Given the description of an element on the screen output the (x, y) to click on. 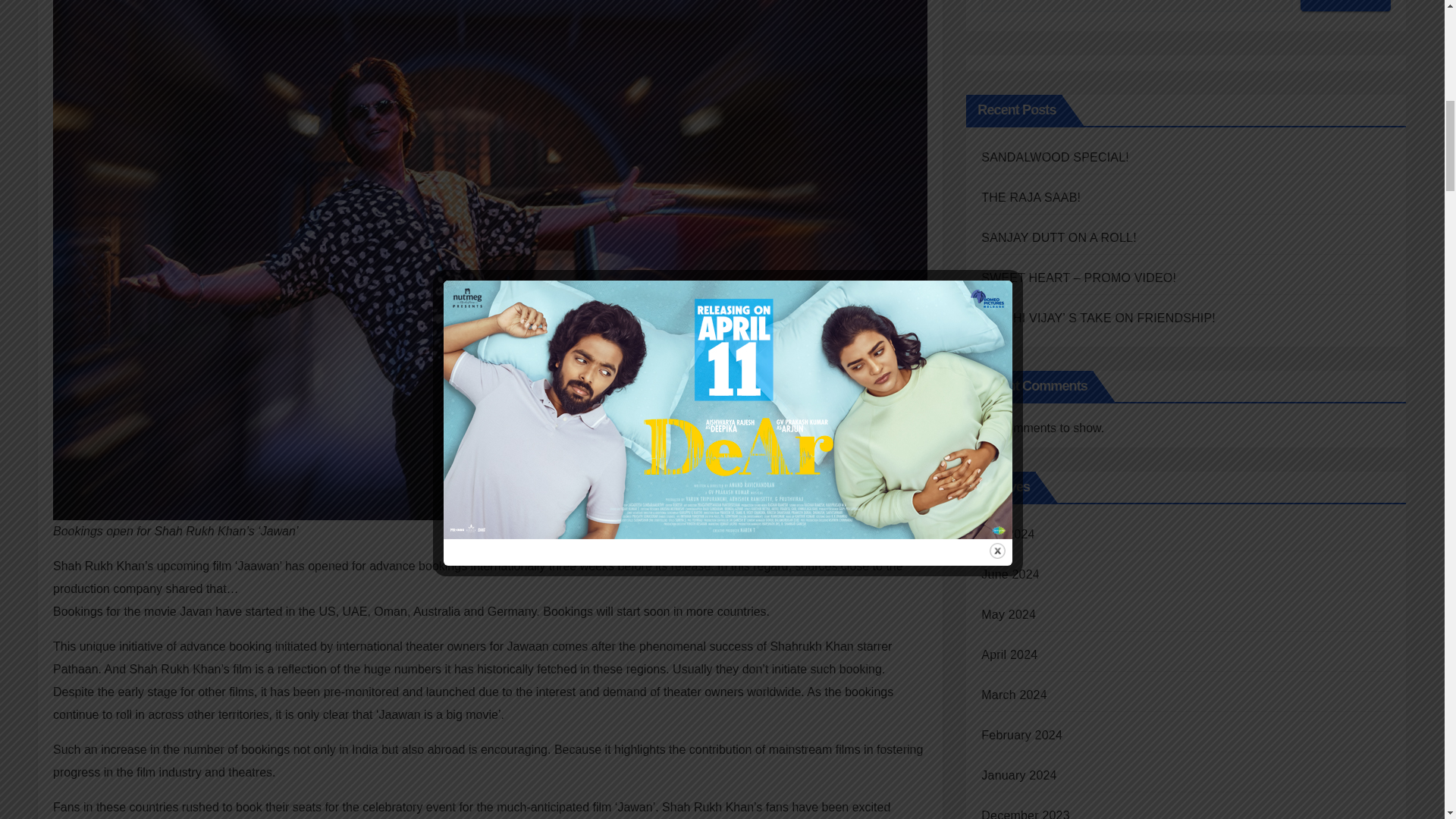
SANDALWOOD SPECIAL! (1055, 156)
SANJAY DUTT ON A ROLL! (1058, 237)
February 2024 (1021, 735)
May 2024 (1008, 614)
April 2024 (1008, 654)
January 2024 (1019, 775)
Search (1345, 5)
March 2024 (1013, 694)
July 2024 (1007, 533)
June 2024 (1010, 574)
THE RAJA SAAB! (1030, 196)
December 2023 (1024, 814)
